Given the description of an element on the screen output the (x, y) to click on. 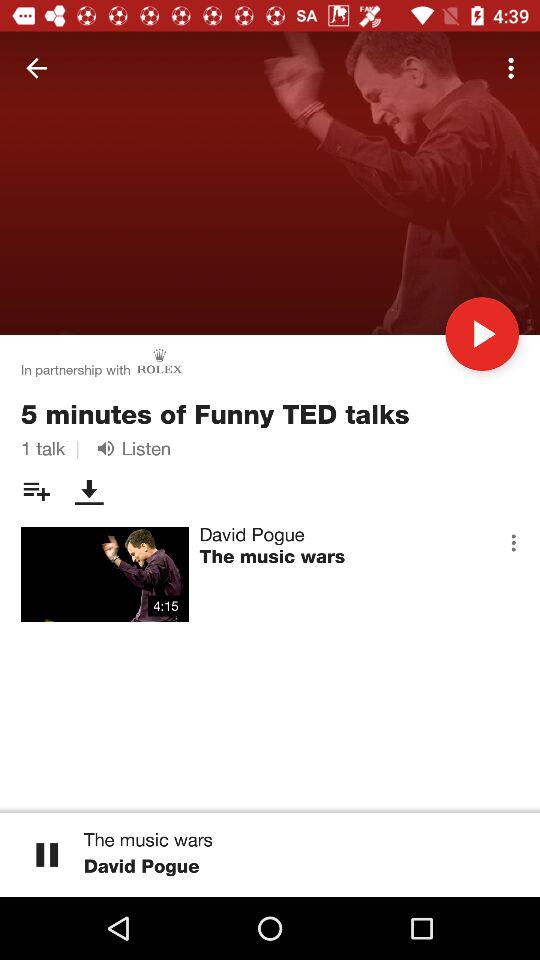
turn off the item next to the | icon (130, 448)
